Given the description of an element on the screen output the (x, y) to click on. 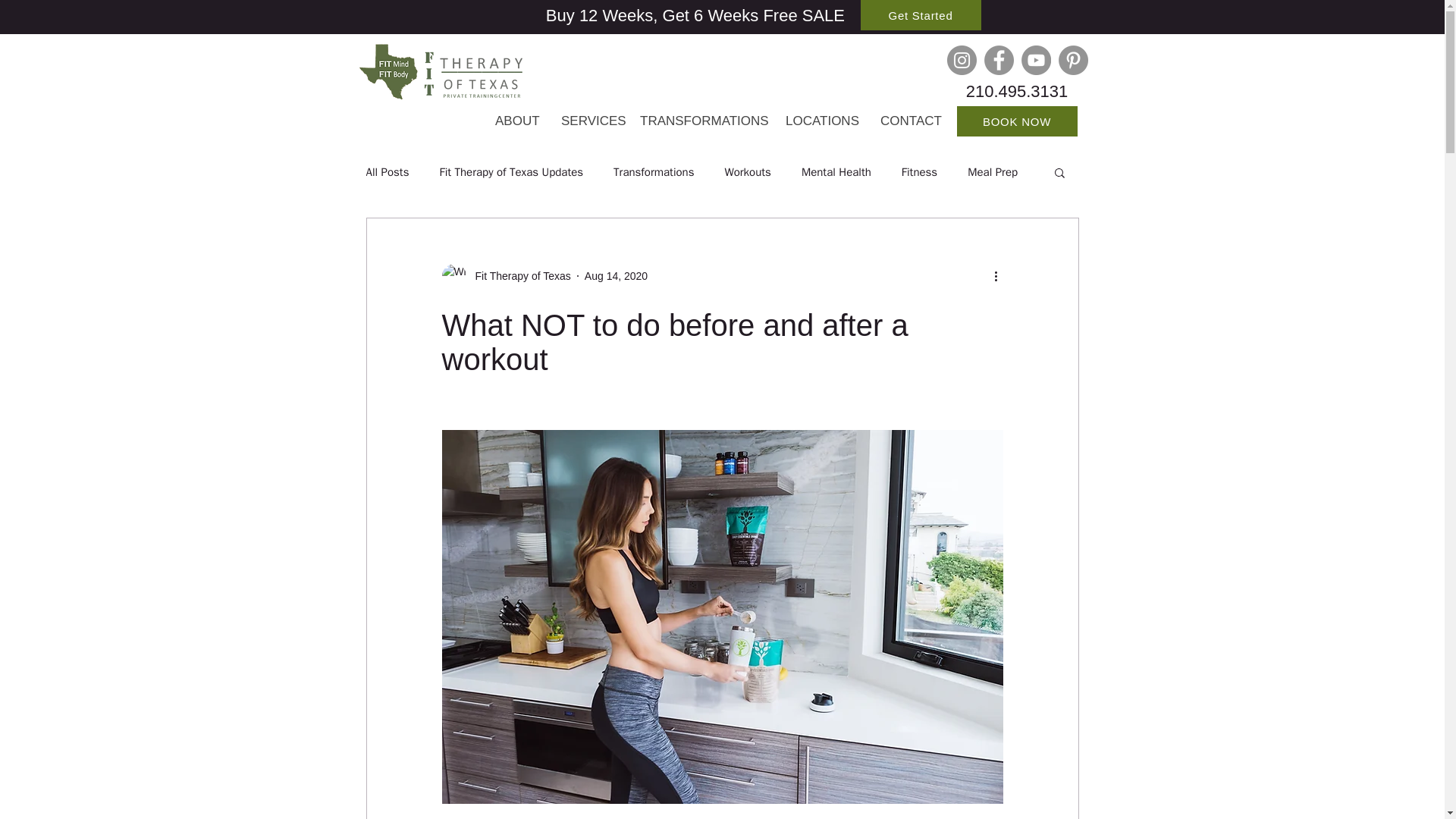
Meal Prep (992, 172)
Fit Therapy of Texas (517, 276)
SERVICES (589, 121)
Transformations (653, 172)
TRANSFORMATIONS (701, 121)
Workouts (746, 172)
Mental Health (836, 172)
All Posts (387, 172)
BOOK NOW (1016, 121)
Fit Therapy of Texas (505, 275)
